Given the description of an element on the screen output the (x, y) to click on. 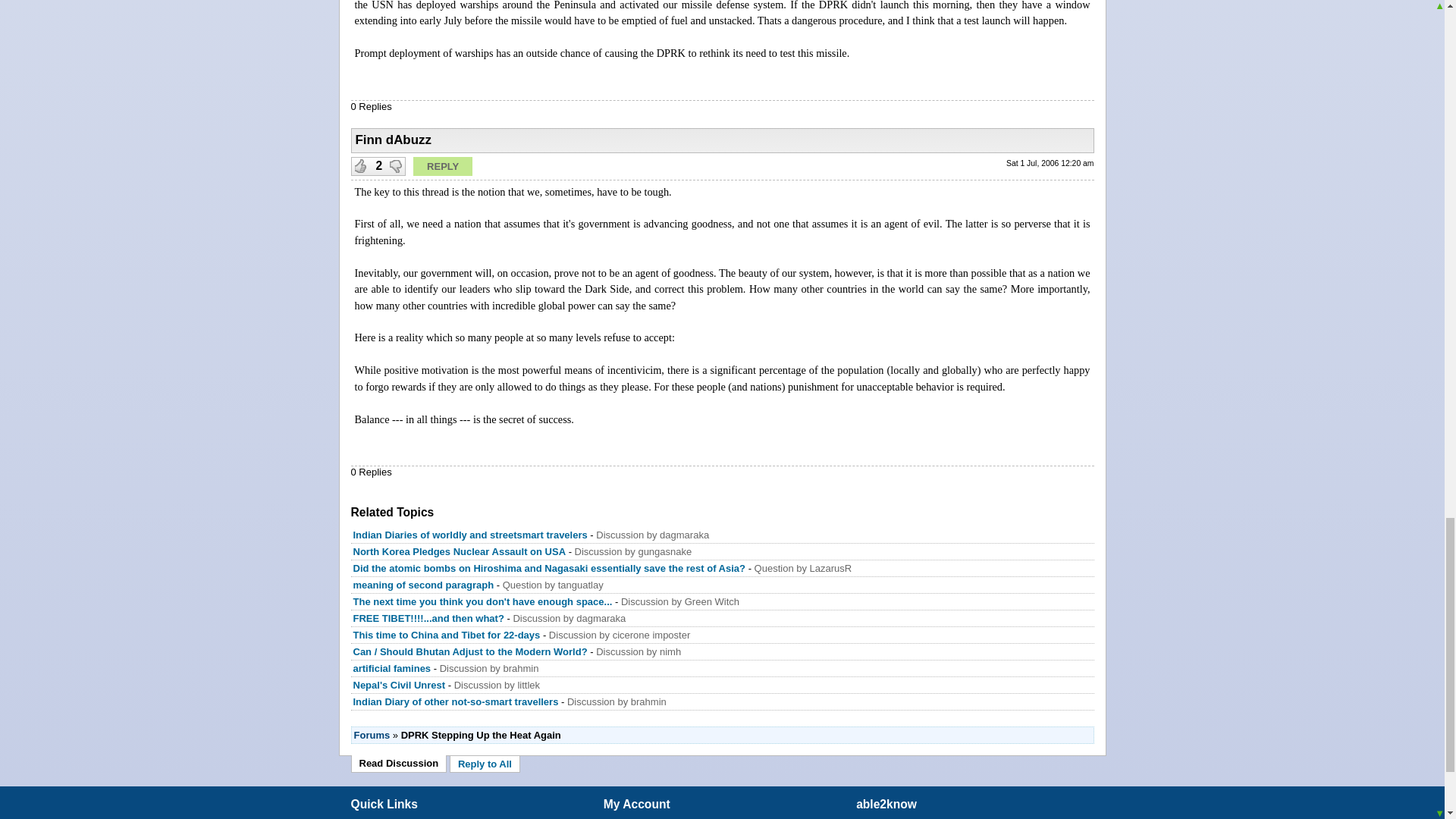
This time to China and Tibet for 22-days (446, 634)
North Korea Pledges Nuclear Assault on USA (459, 551)
Indian Diaries of worldly and streetsmart travelers (470, 534)
artificial famines (391, 668)
Indian Diary of other not-so-smart travellers (456, 701)
Reply to All (484, 764)
Nepal's Civil Unrest (399, 685)
Forums (371, 735)
The next time you think you don't have enough space... (482, 601)
